Given the description of an element on the screen output the (x, y) to click on. 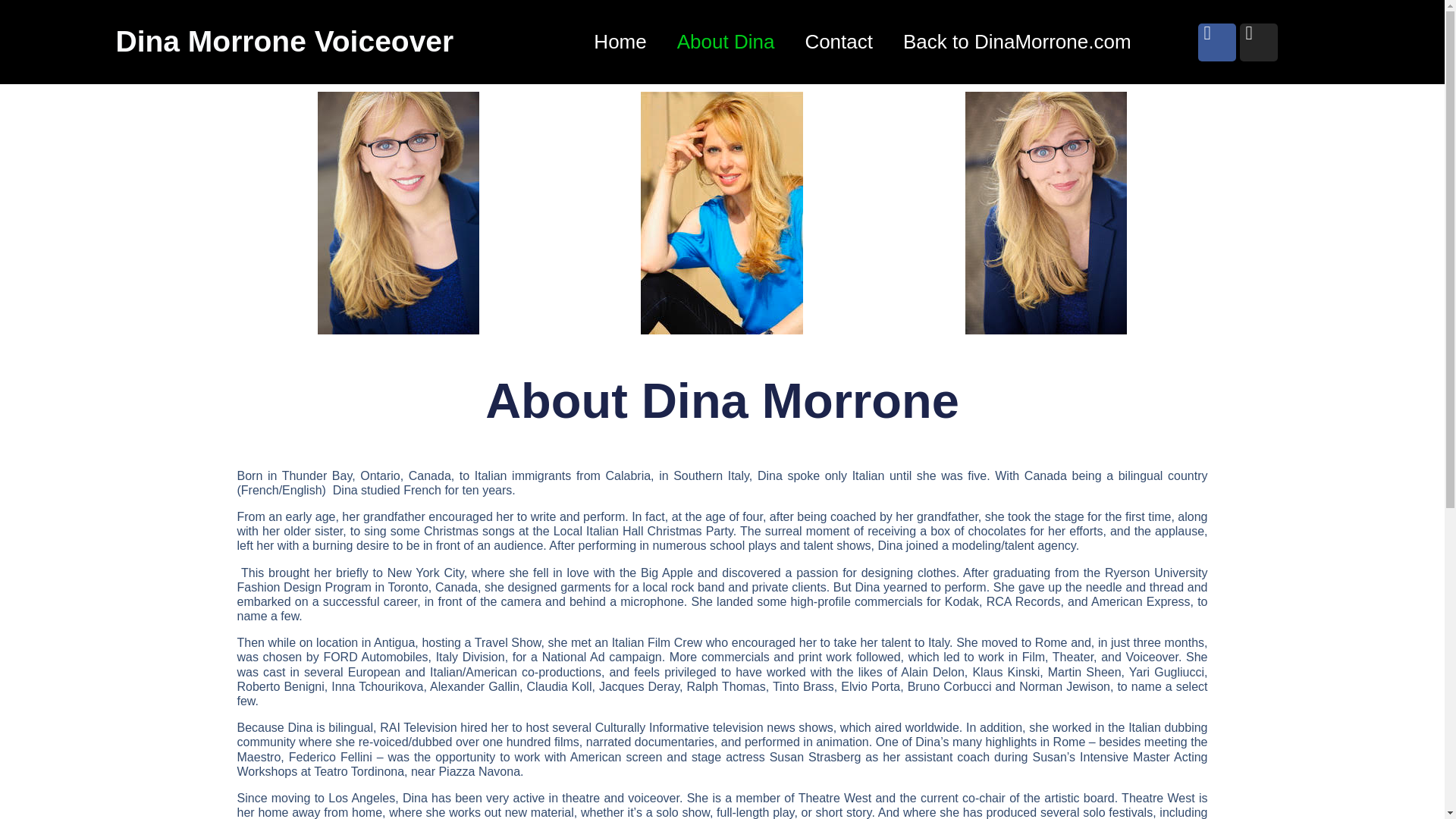
Home (619, 42)
Dina Morrone Voiceover (283, 41)
About Dina (726, 42)
Contact (838, 42)
Back to DinaMorrone.com (1017, 42)
